Given the description of an element on the screen output the (x, y) to click on. 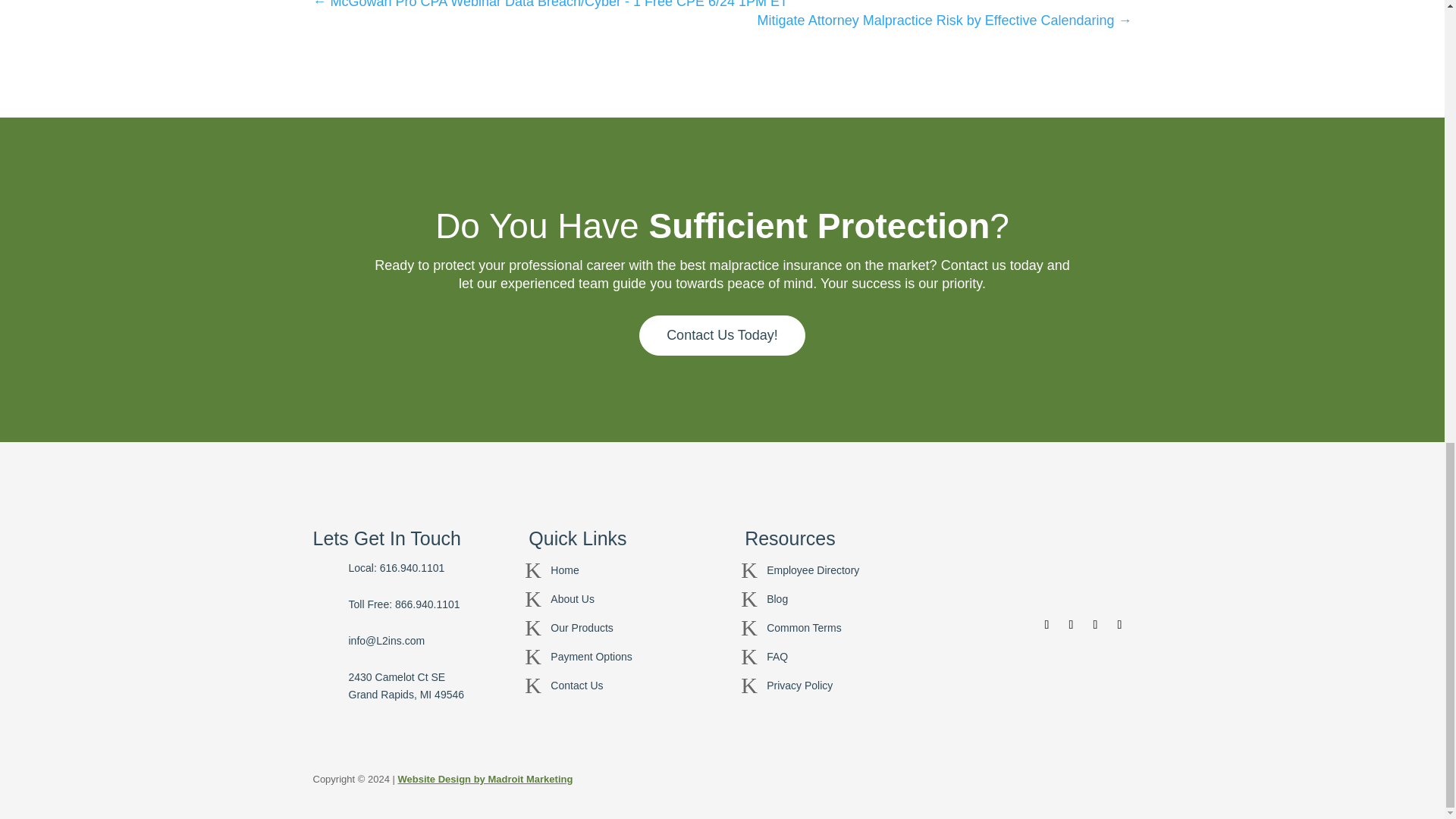
Privacy Policy (799, 685)
Follow on Google (1094, 624)
Follow on Facebook (1045, 624)
Follow on X (1070, 624)
Follow on LinkedIn (1118, 624)
